Given the description of an element on the screen output the (x, y) to click on. 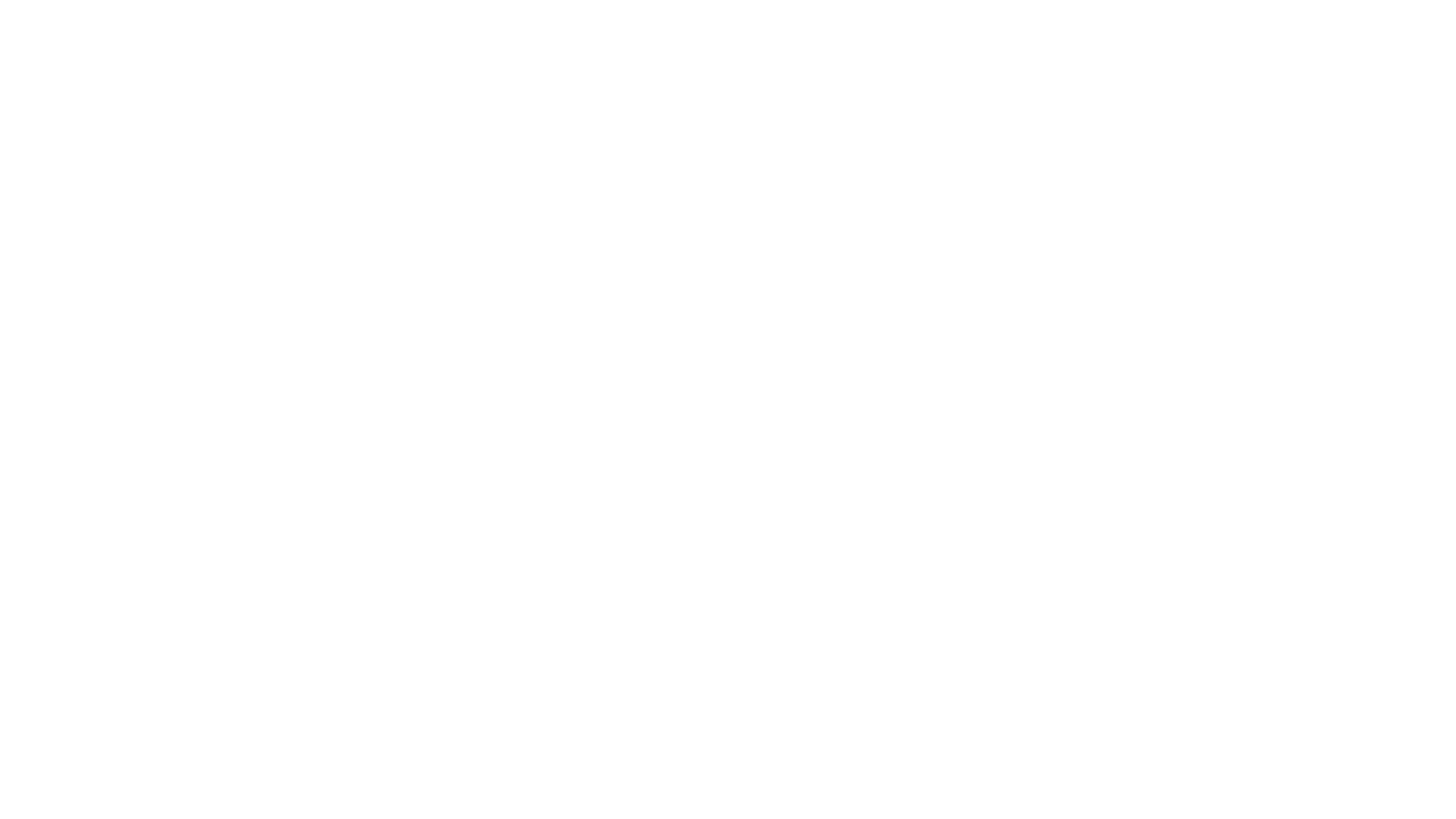
Cloudflare Element type: text (798, 799)
